Given the description of an element on the screen output the (x, y) to click on. 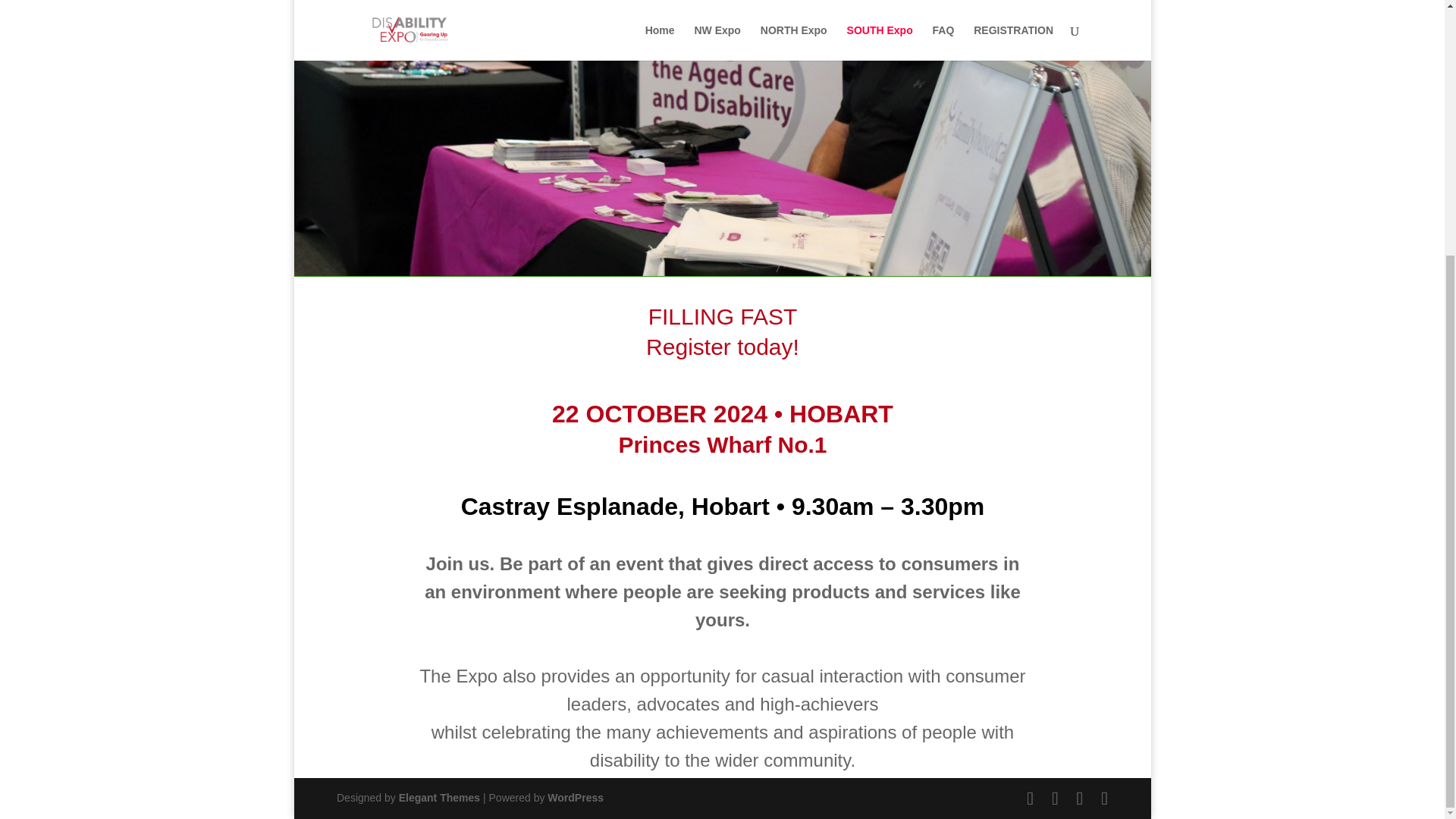
Premium WordPress Themes (439, 797)
WordPress (575, 797)
Elegant Themes (439, 797)
